Given the description of an element on the screen output the (x, y) to click on. 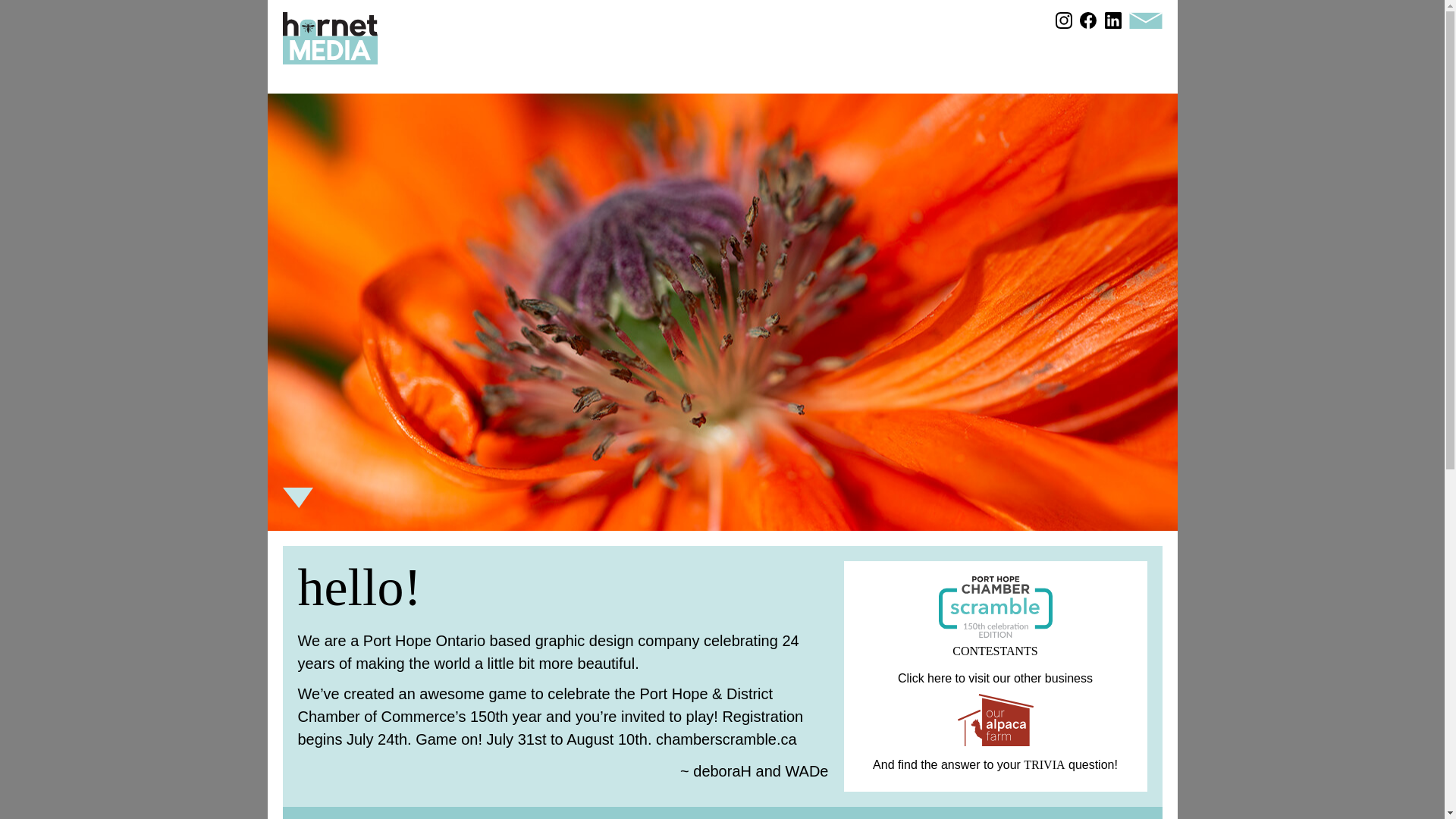
chamberscramble.ca (726, 740)
here (939, 679)
